Given the description of an element on the screen output the (x, y) to click on. 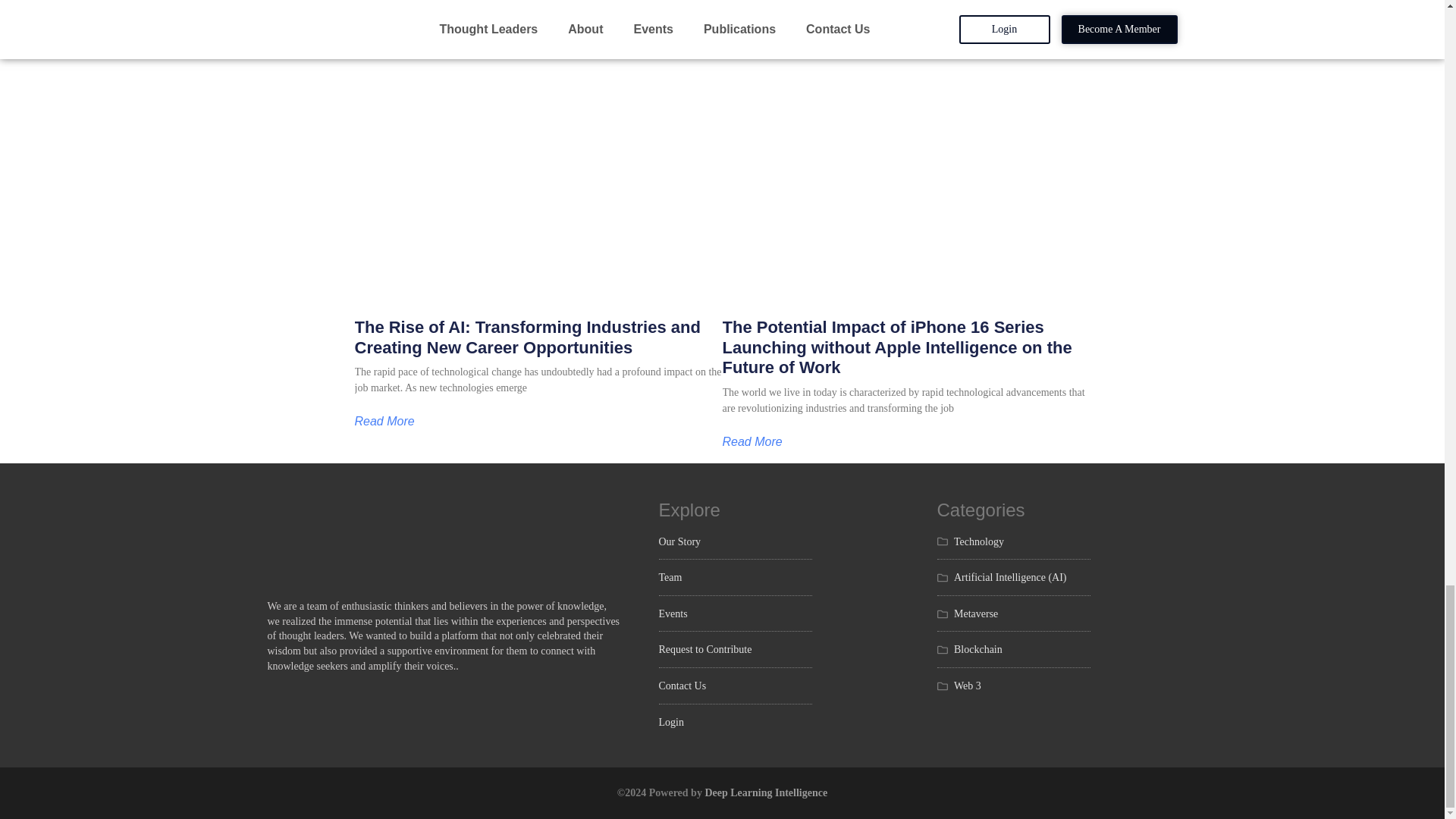
Read More (384, 421)
